Given the description of an element on the screen output the (x, y) to click on. 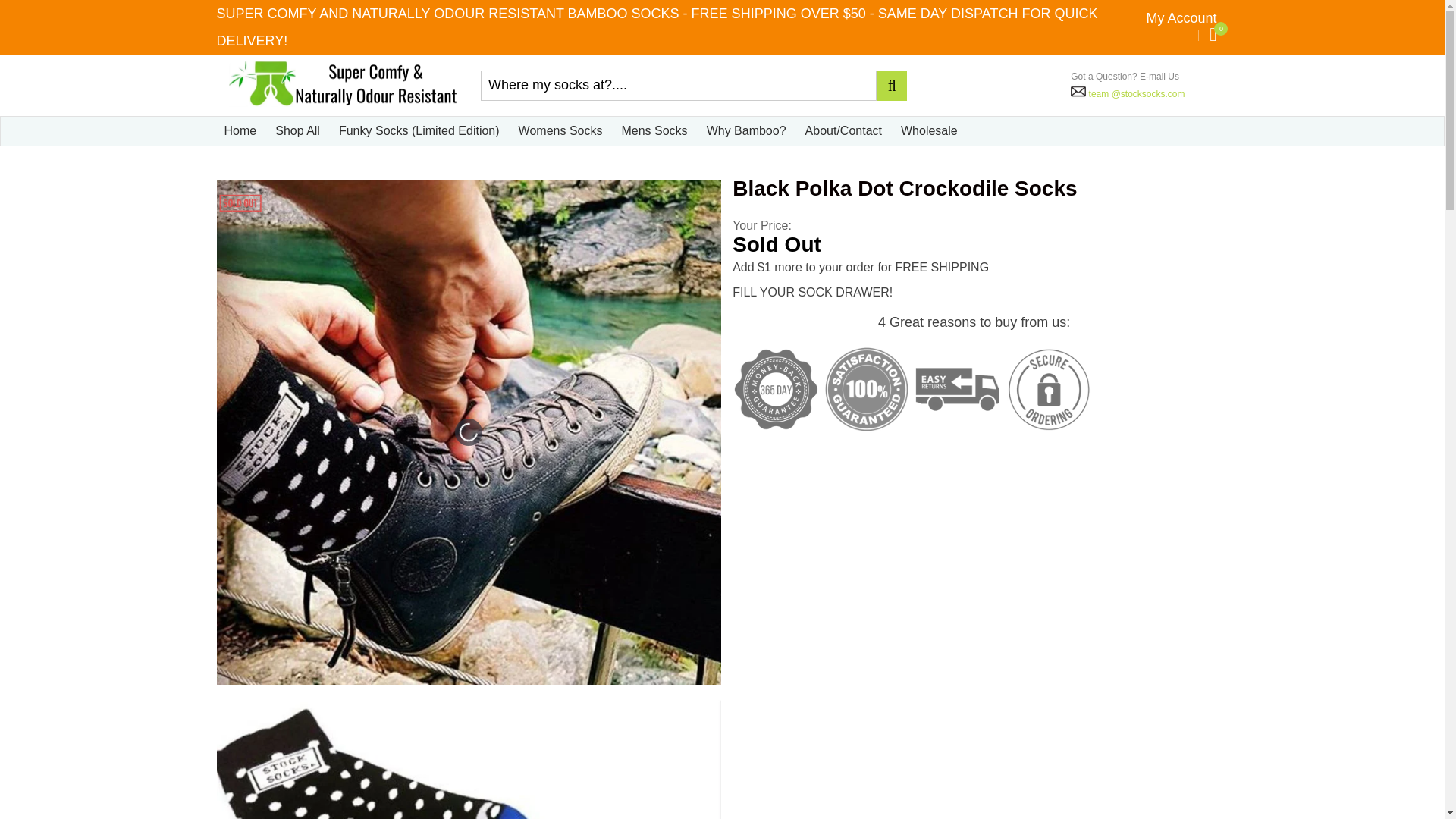
Home (240, 131)
Back to the home page (238, 167)
HOME (238, 167)
0 (1212, 35)
Why Bamboo? (746, 131)
Mens Socks (654, 131)
Womens Socks (560, 131)
Wholesale (929, 131)
My Account (1180, 17)
ALL (273, 167)
